Given the description of an element on the screen output the (x, y) to click on. 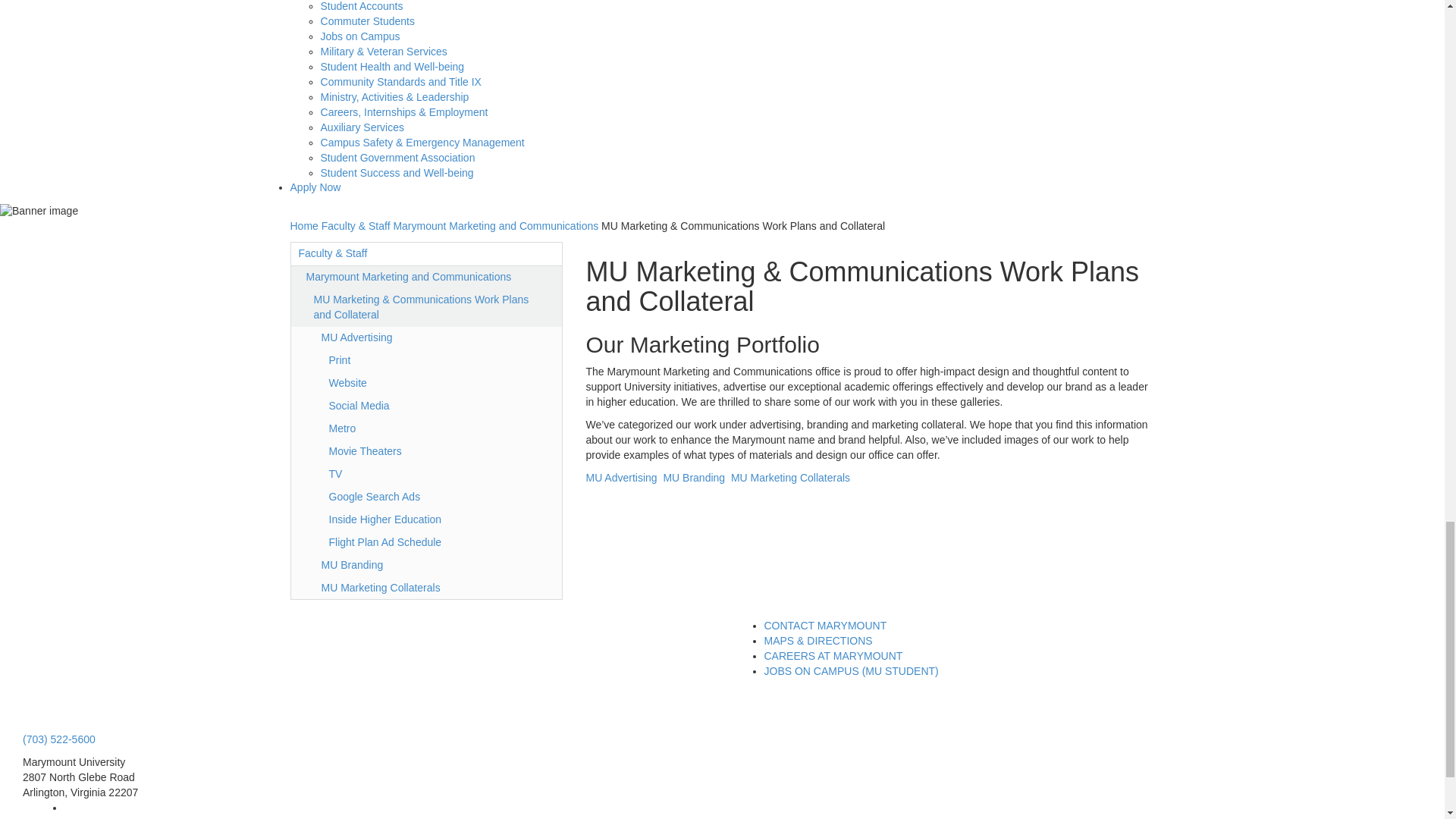
Contact Us (825, 625)
Careers at MU (833, 655)
